Given the description of an element on the screen output the (x, y) to click on. 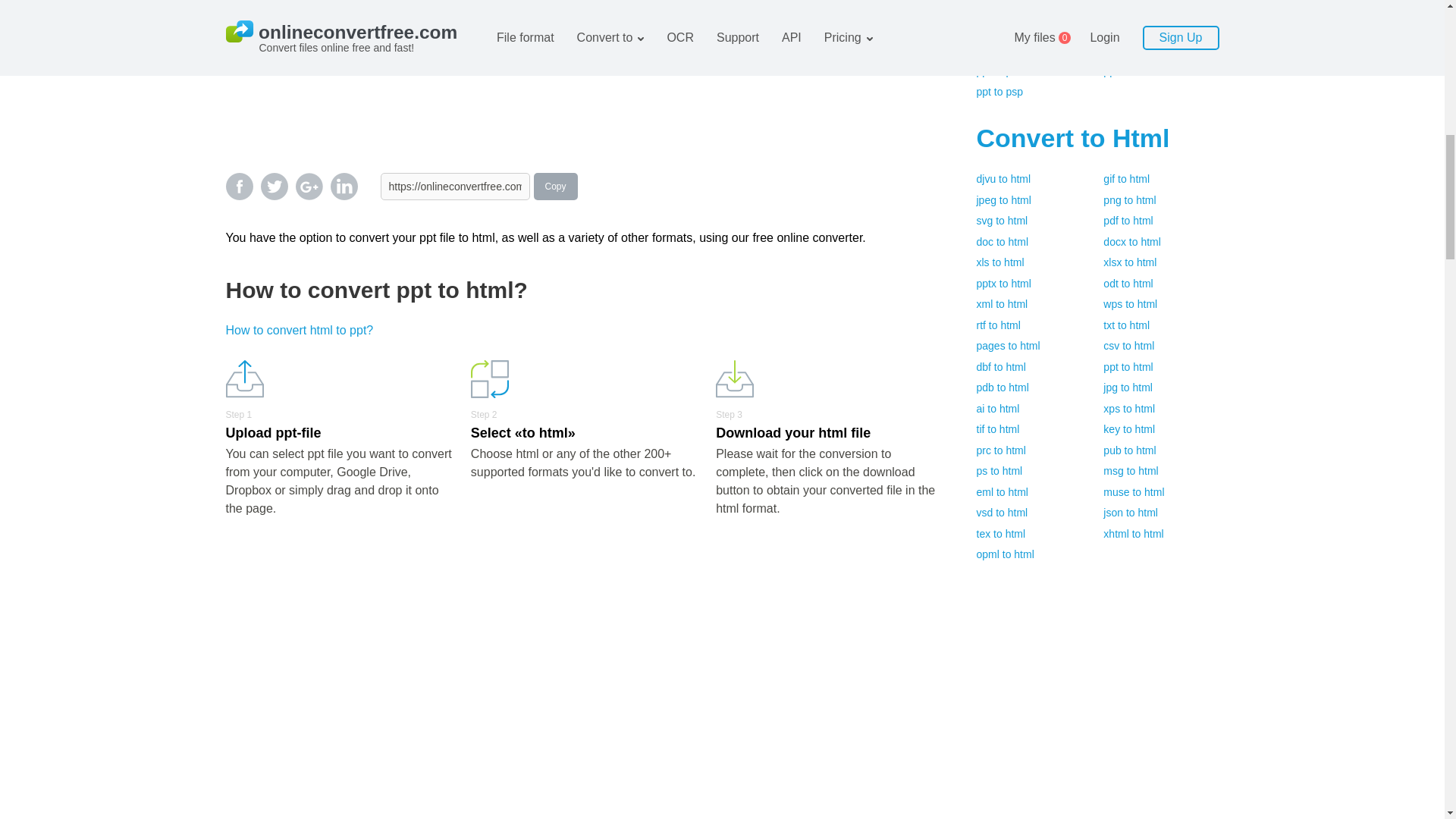
Advertisement (593, 76)
